Given the description of an element on the screen output the (x, y) to click on. 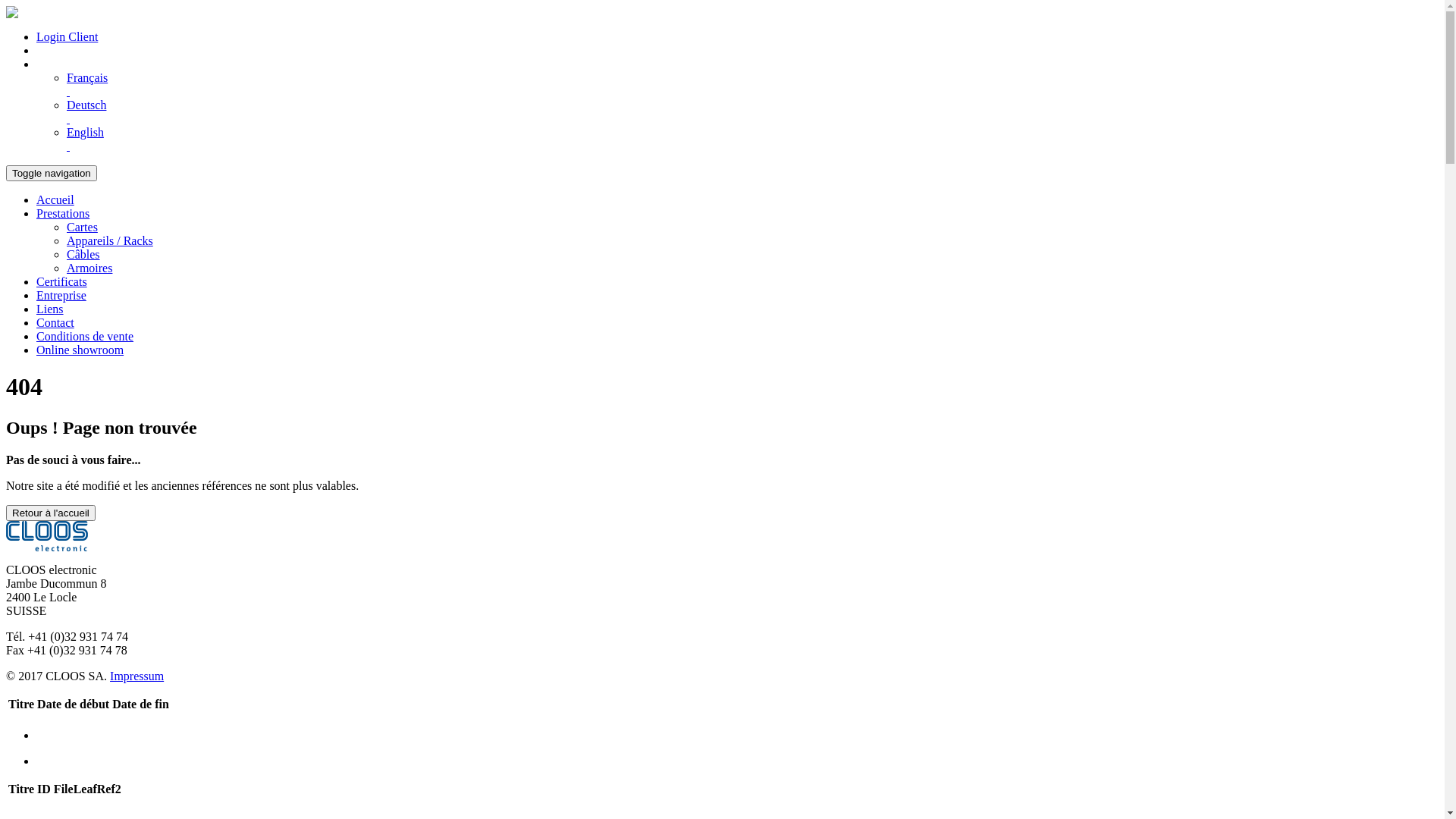
Entreprise Element type: text (61, 294)
Online showroom Element type: text (79, 349)
Liens Element type: text (49, 308)
Login Client Element type: text (66, 36)
Cartes Element type: text (81, 226)
Prestations Element type: text (62, 213)
Accueil Element type: text (55, 199)
Certificats Element type: text (61, 281)
Toggle navigation Element type: text (51, 173)
Appareils / Racks Element type: text (109, 240)
Deutsch
  Element type: text (752, 111)
Contact Element type: text (55, 322)
Armoires Element type: text (89, 267)
Impressum Element type: text (136, 675)
Conditions de vente Element type: text (84, 335)
English
  Element type: text (752, 139)
